Given the description of an element on the screen output the (x, y) to click on. 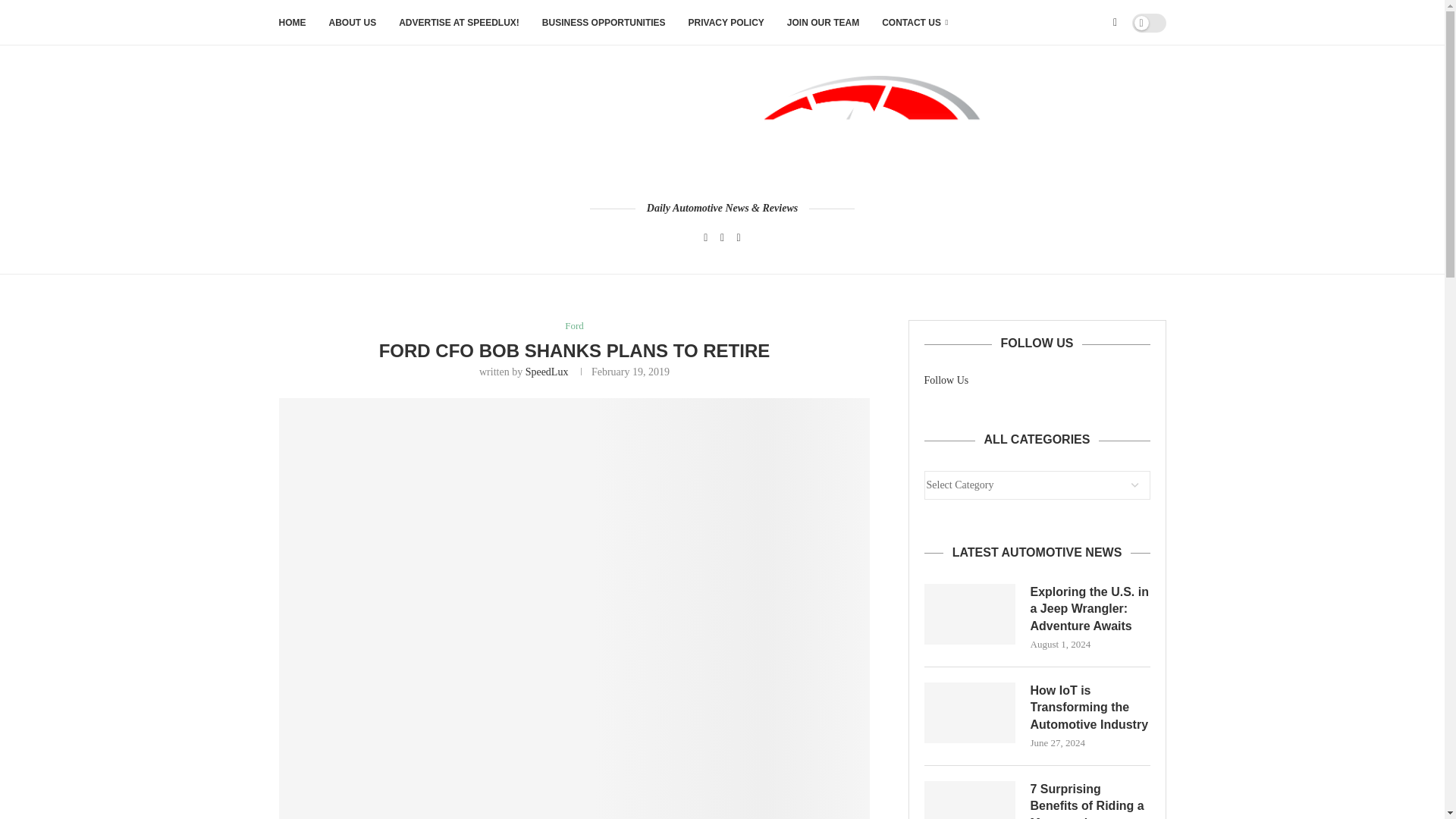
CONTACT US (915, 22)
JOIN OUR TEAM (823, 22)
ABOUT US (353, 22)
BUSINESS OPPORTUNITIES (603, 22)
PRIVACY POLICY (726, 22)
Ford (573, 326)
ADVERTISE AT SPEEDLUX! (458, 22)
SpeedLux (547, 371)
